Given the description of an element on the screen output the (x, y) to click on. 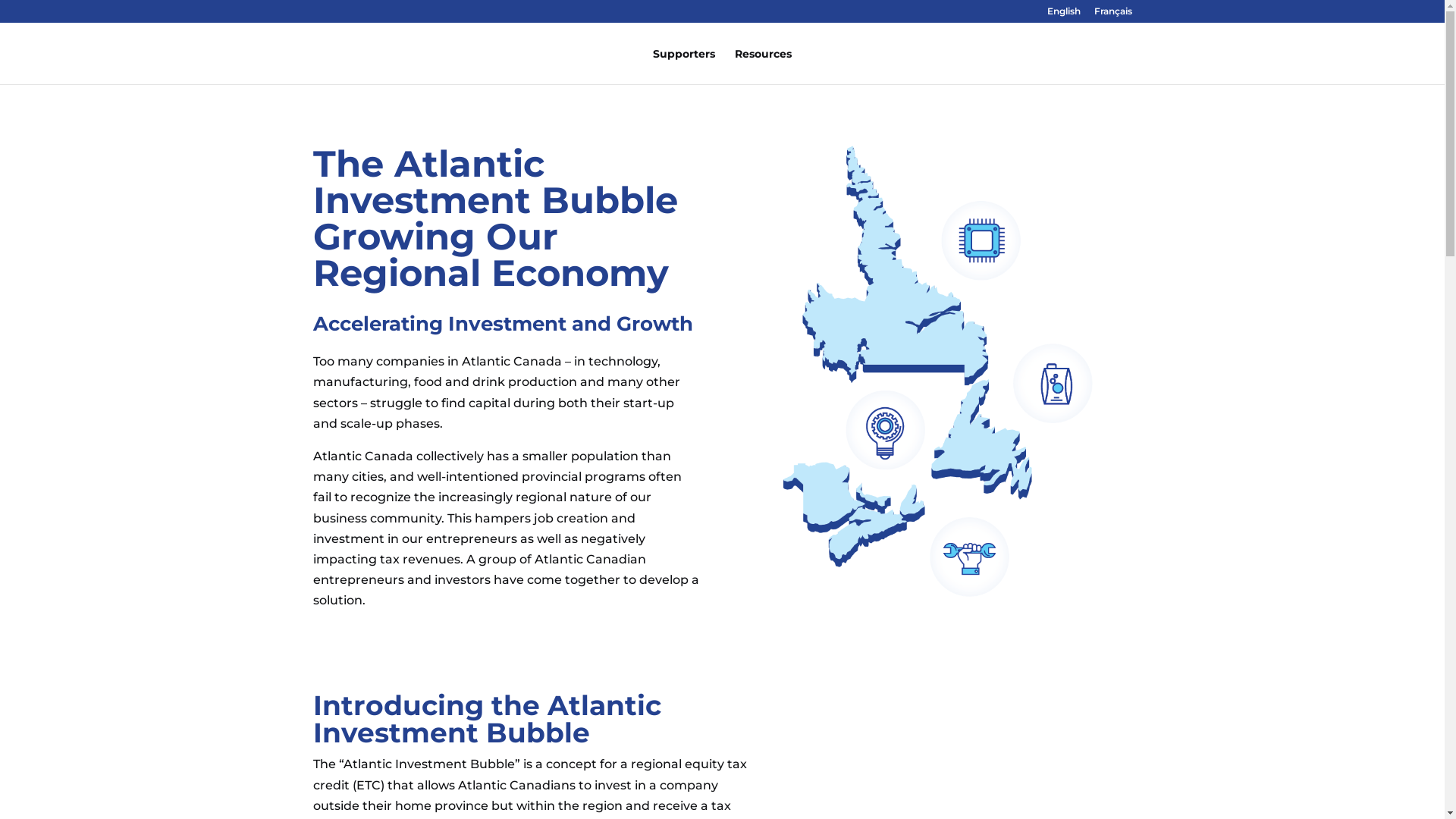
atlantic region map Element type: hover (937, 370)
Resources Element type: text (762, 66)
English Element type: text (1062, 14)
Supporters Element type: text (683, 66)
